Given the description of an element on the screen output the (x, y) to click on. 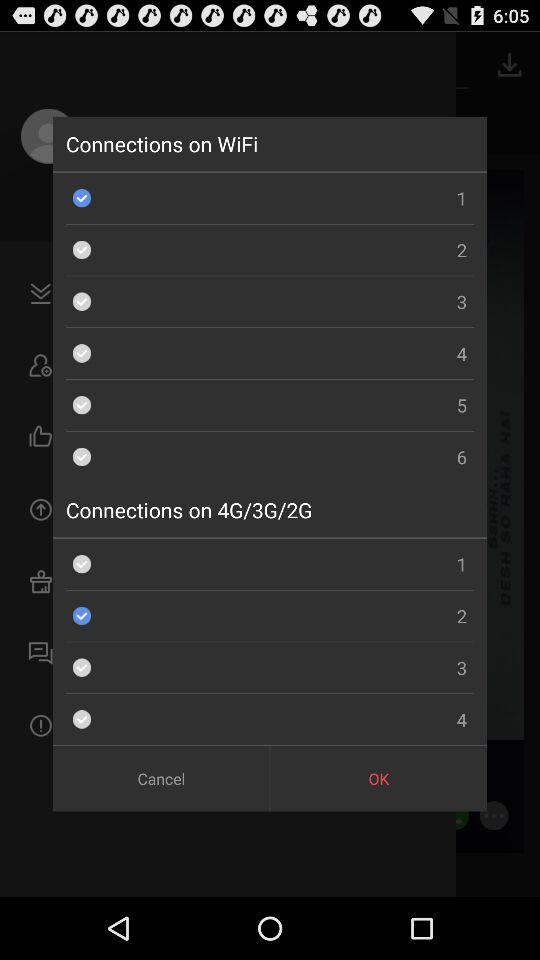
jump to cancel button (160, 778)
